Given the description of an element on the screen output the (x, y) to click on. 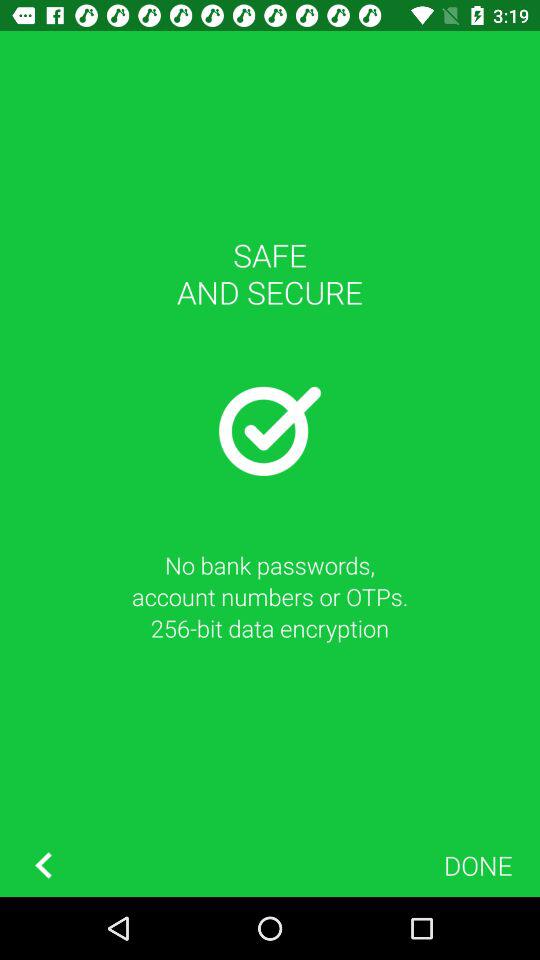
go back (43, 865)
